Given the description of an element on the screen output the (x, y) to click on. 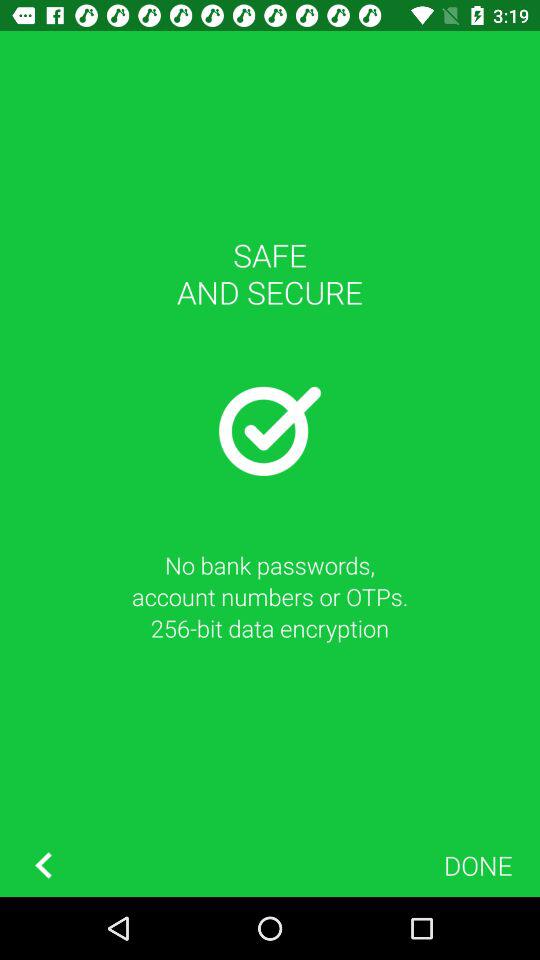
go back (43, 865)
